Given the description of an element on the screen output the (x, y) to click on. 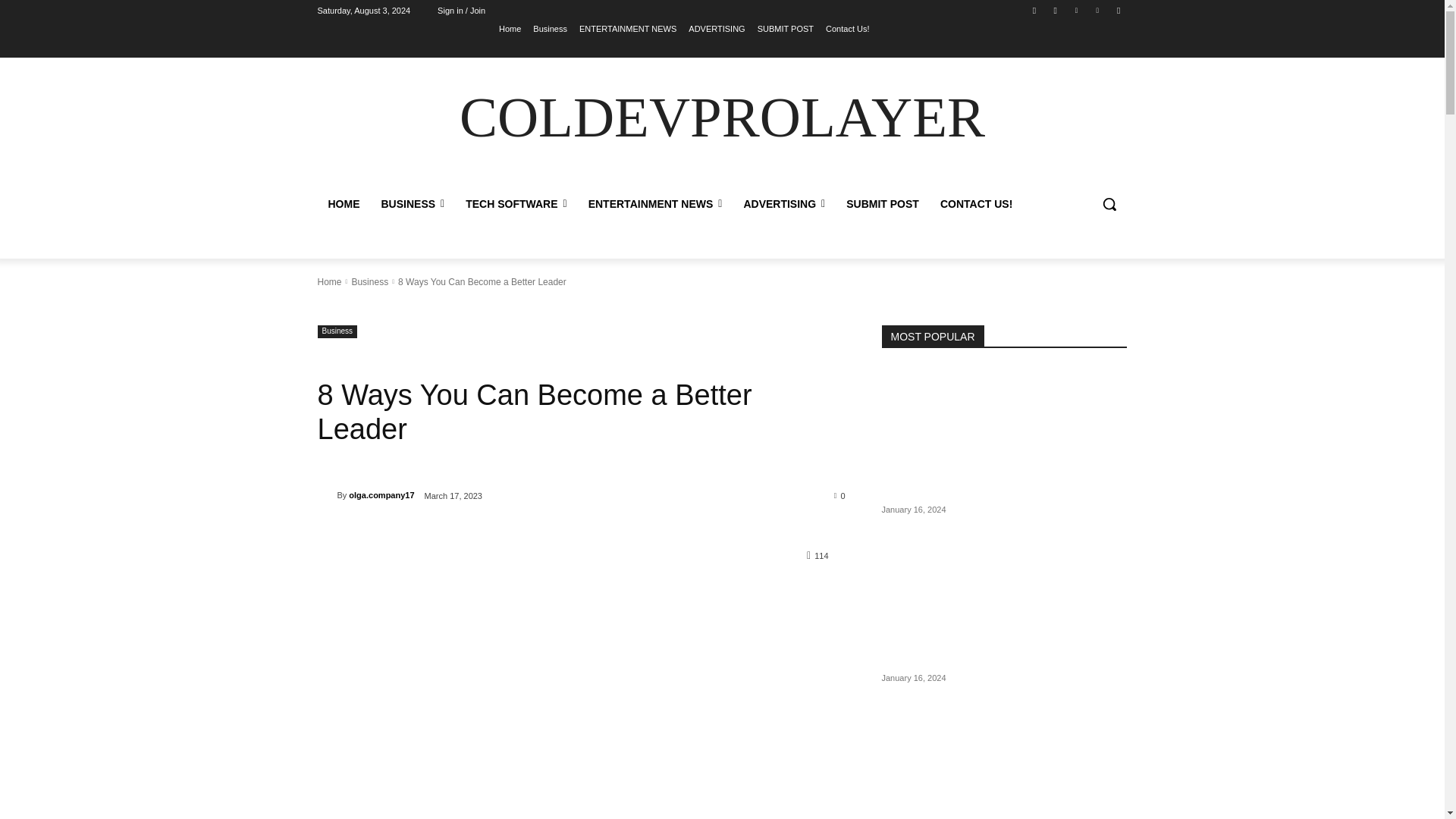
ENTERTAINMENT NEWS (628, 28)
Contact Us! (847, 28)
Facebook (1034, 9)
Twitter (1075, 9)
Youtube (1117, 9)
Home (510, 28)
Business (549, 28)
COLDEVPROLAYER (721, 117)
BUSINESS (411, 203)
Vimeo (1097, 9)
ADVERTISING (716, 28)
HOME (343, 203)
Instagram (1055, 9)
SUBMIT POST (785, 28)
